Given the description of an element on the screen output the (x, y) to click on. 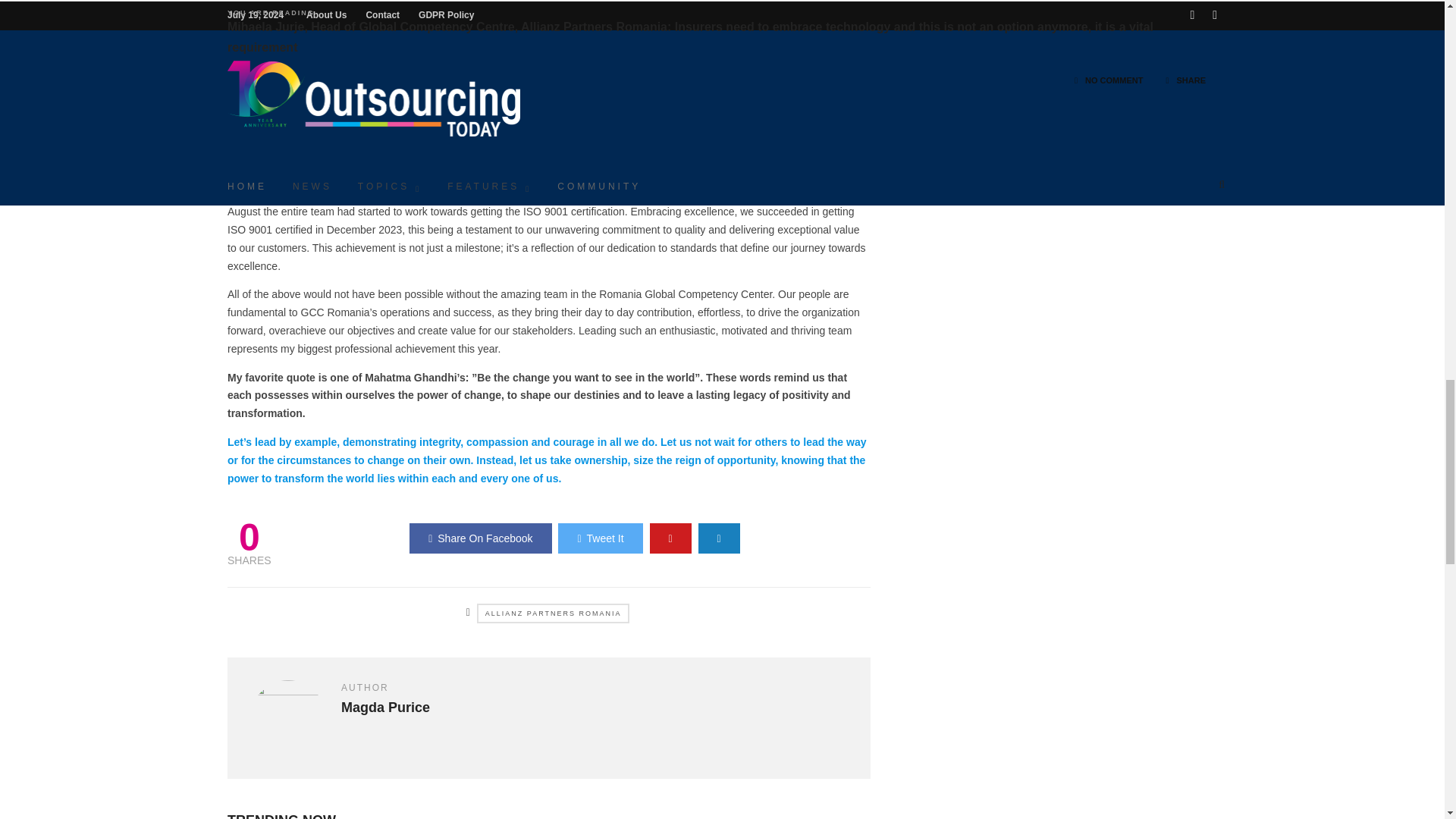
Share On Twitter (599, 538)
Share On Pinterest (670, 538)
Share On Facebook (480, 538)
Share by Email (718, 538)
